Given the description of an element on the screen output the (x, y) to click on. 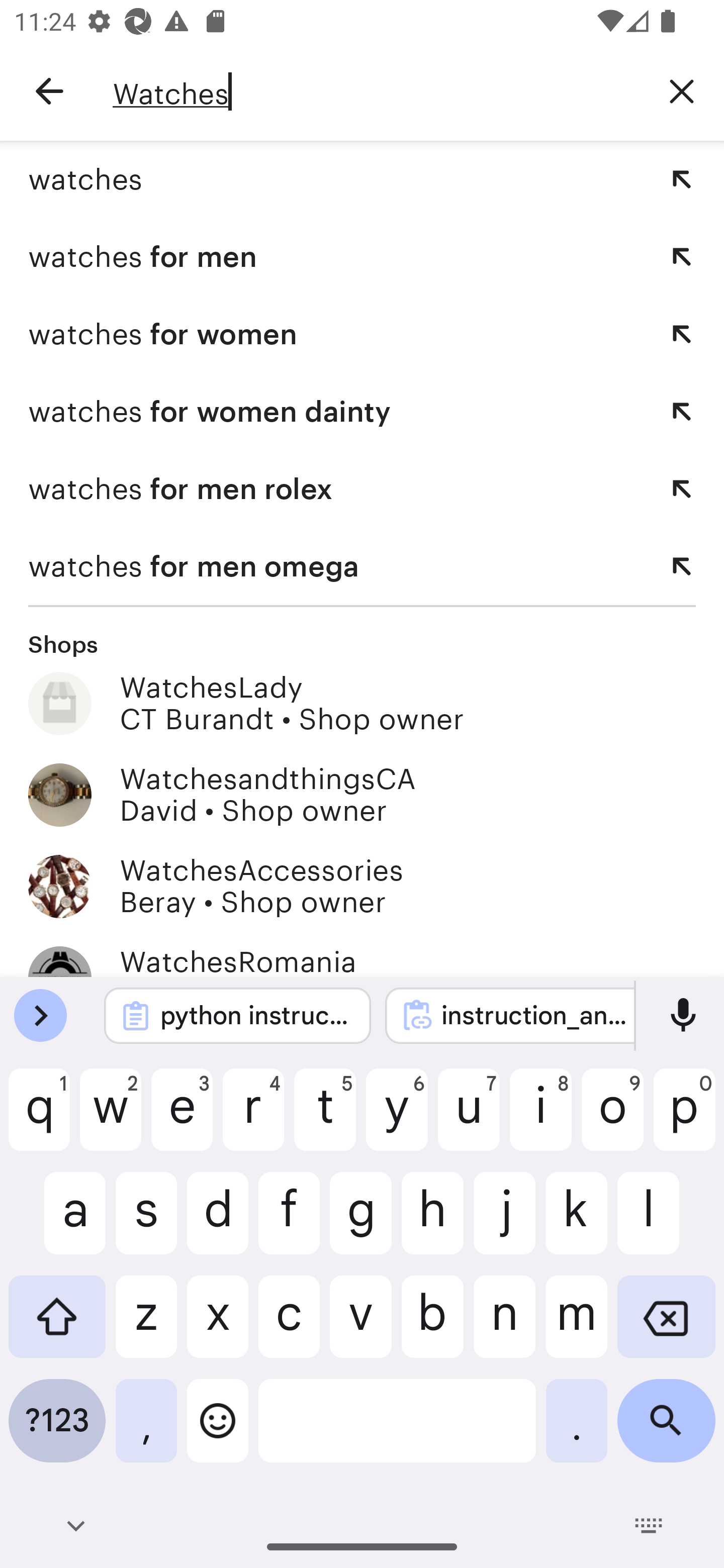
Navigate up (49, 91)
Clear query (681, 90)
Watches (375, 91)
Populate the search field with watches suggestion (681, 179)
